Given the description of an element on the screen output the (x, y) to click on. 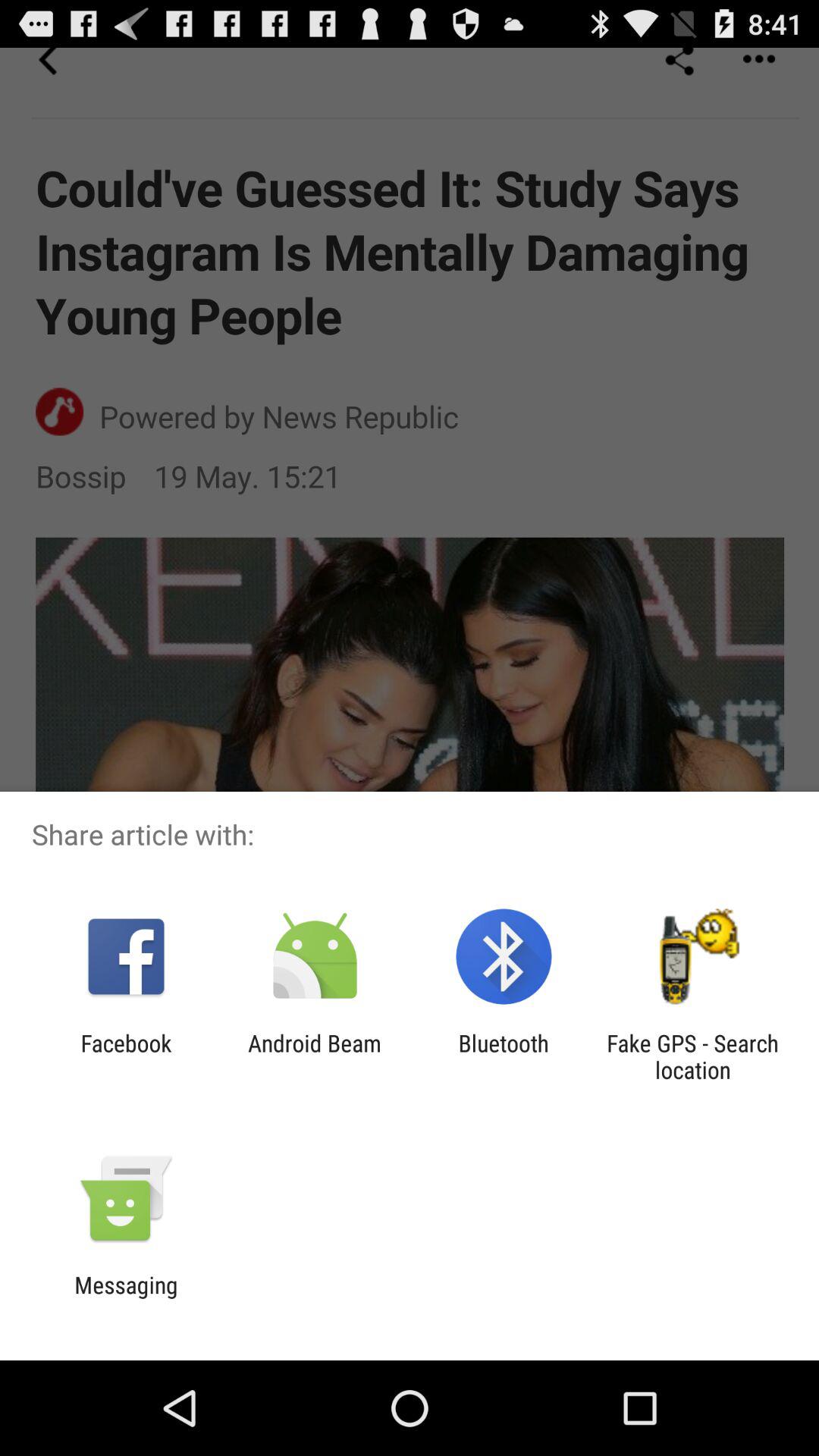
press the app to the left of bluetooth (314, 1056)
